Given the description of an element on the screen output the (x, y) to click on. 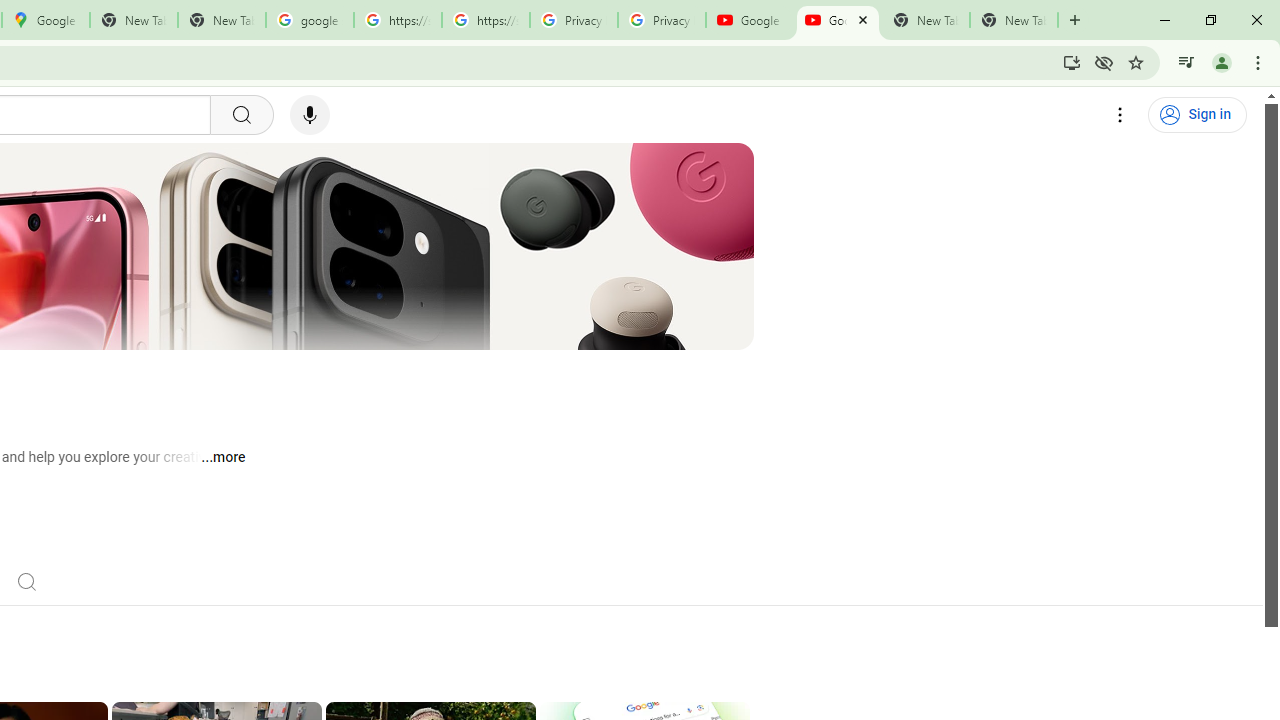
Search with your voice (309, 115)
Google - YouTube (837, 20)
